Given the description of an element on the screen output the (x, y) to click on. 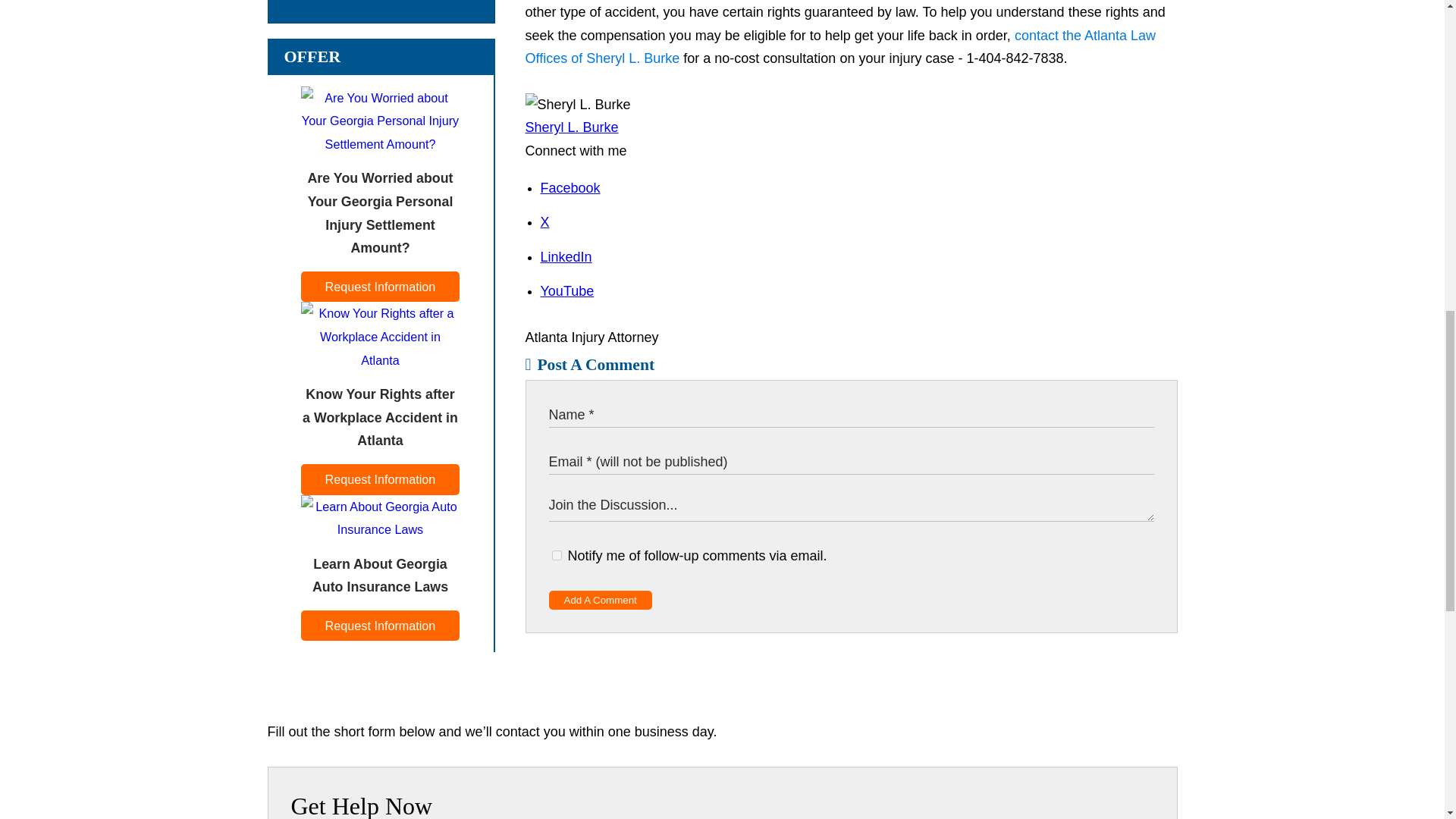
Find me on Facebook (569, 187)
1 (556, 555)
Connect with me on LinkedIn (565, 256)
Watch me on YouTube (567, 290)
